Given the description of an element on the screen output the (x, y) to click on. 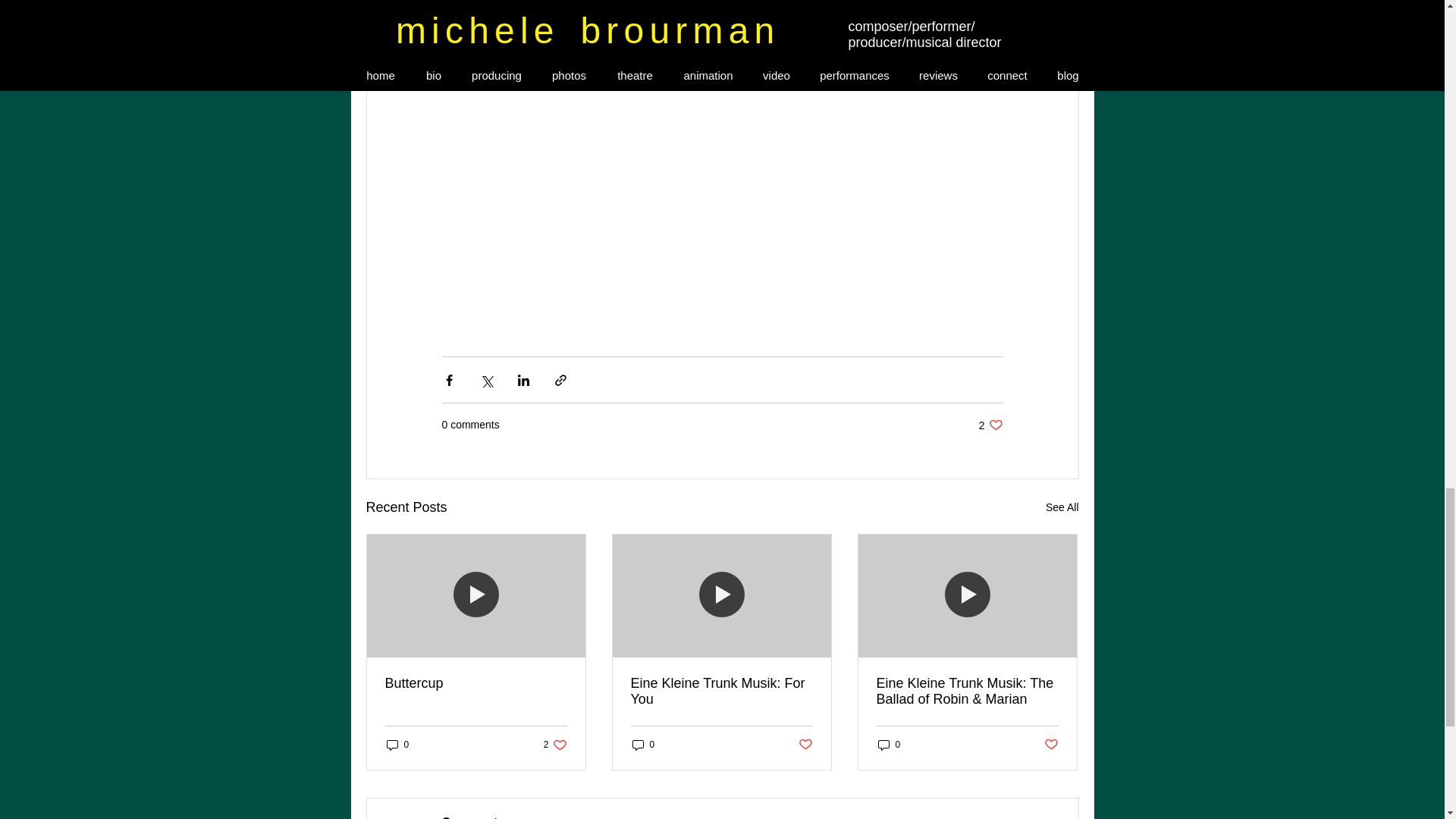
Buttercup (476, 683)
See All (1061, 507)
0 (397, 744)
0 (889, 744)
0 (643, 744)
Post not marked as liked (804, 744)
Post not marked as liked (555, 744)
ricos-video (1050, 744)
Eine Kleine Trunk Musik: For You (990, 424)
